Given the description of an element on the screen output the (x, y) to click on. 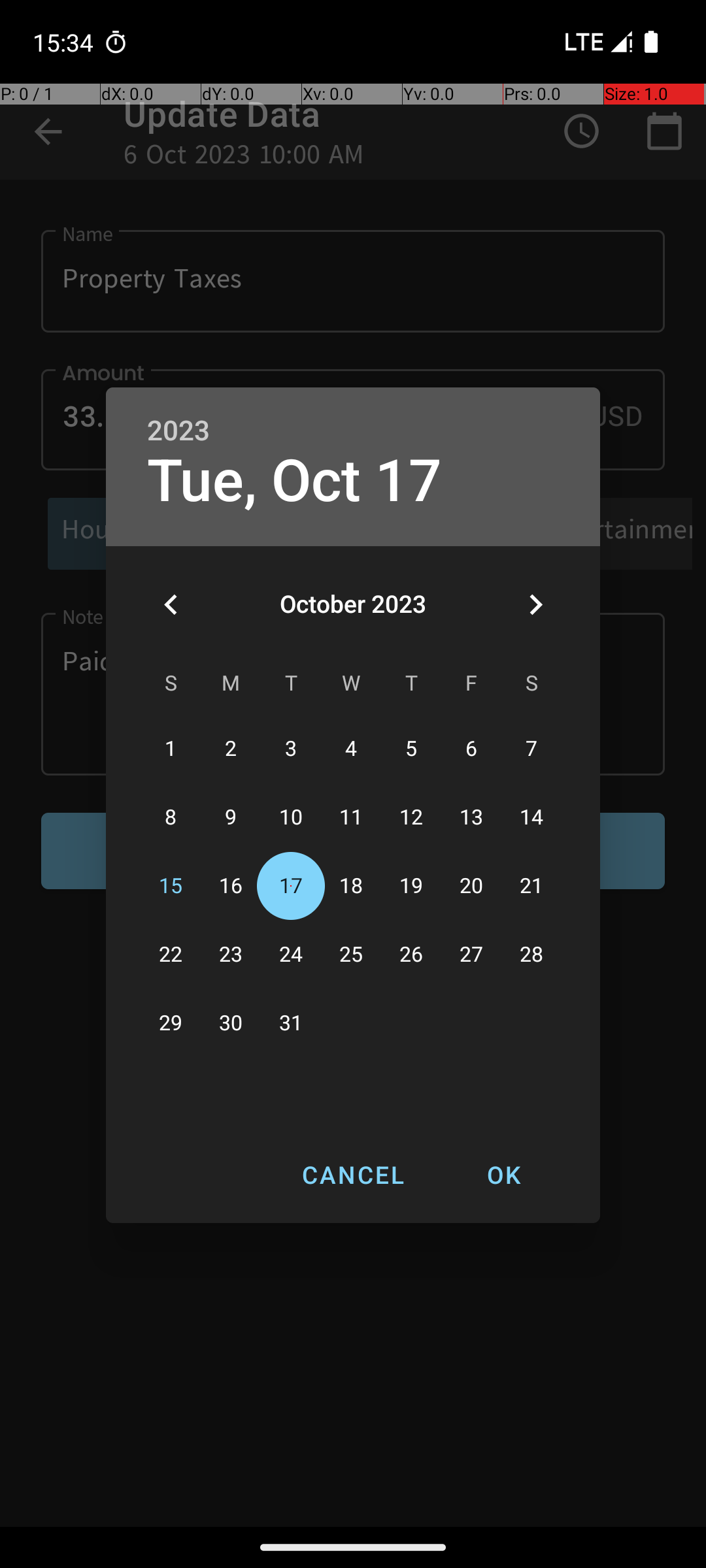
Tue, Oct 17 Element type: android.widget.TextView (294, 480)
